Given the description of an element on the screen output the (x, y) to click on. 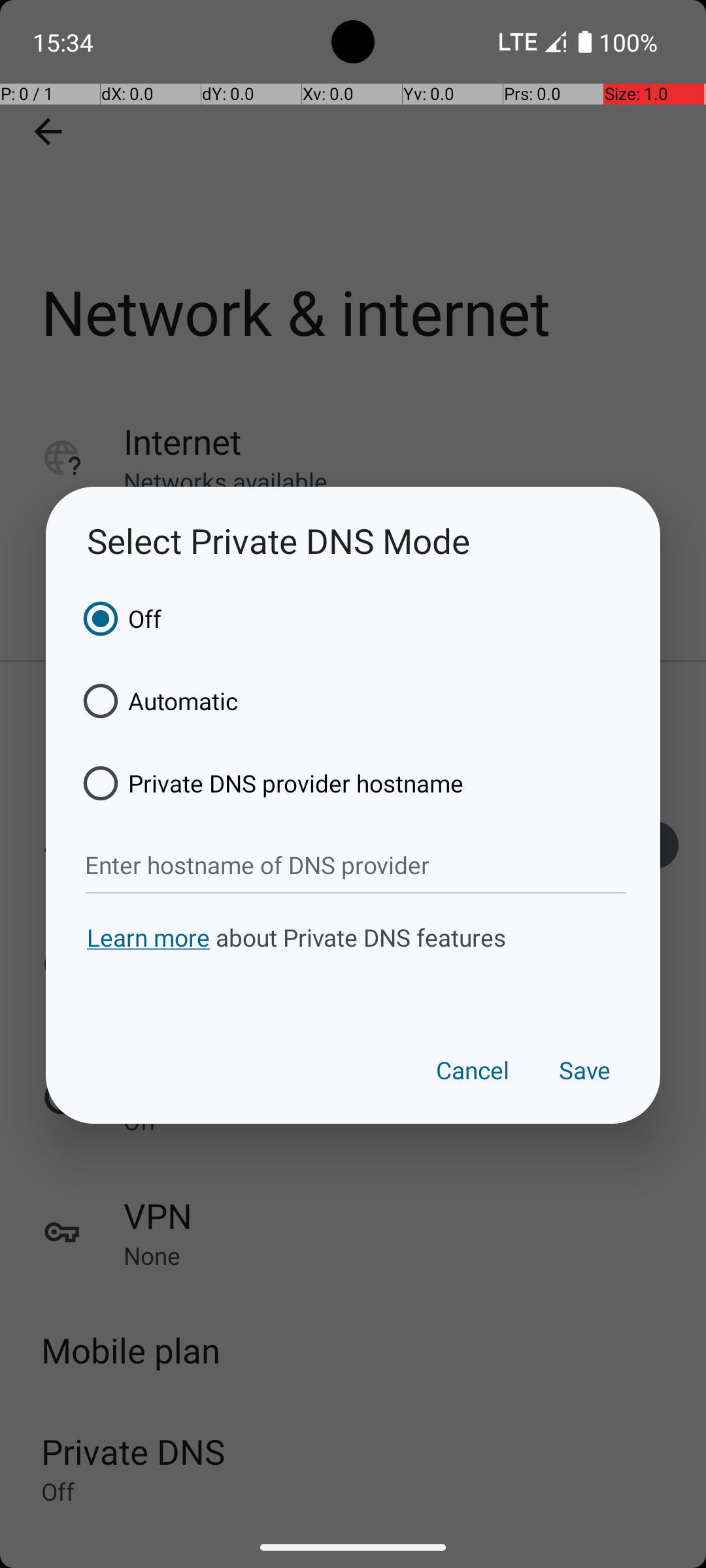
Select Private DNS Mode Element type: android.widget.TextView (352, 540)
Learn more about Private DNS features Element type: android.widget.TextView (352, 961)
Private DNS provider hostname Element type: android.widget.RadioButton (268, 783)
Enter hostname of DNS provider Element type: android.widget.EditText (355, 865)
